Given the description of an element on the screen output the (x, y) to click on. 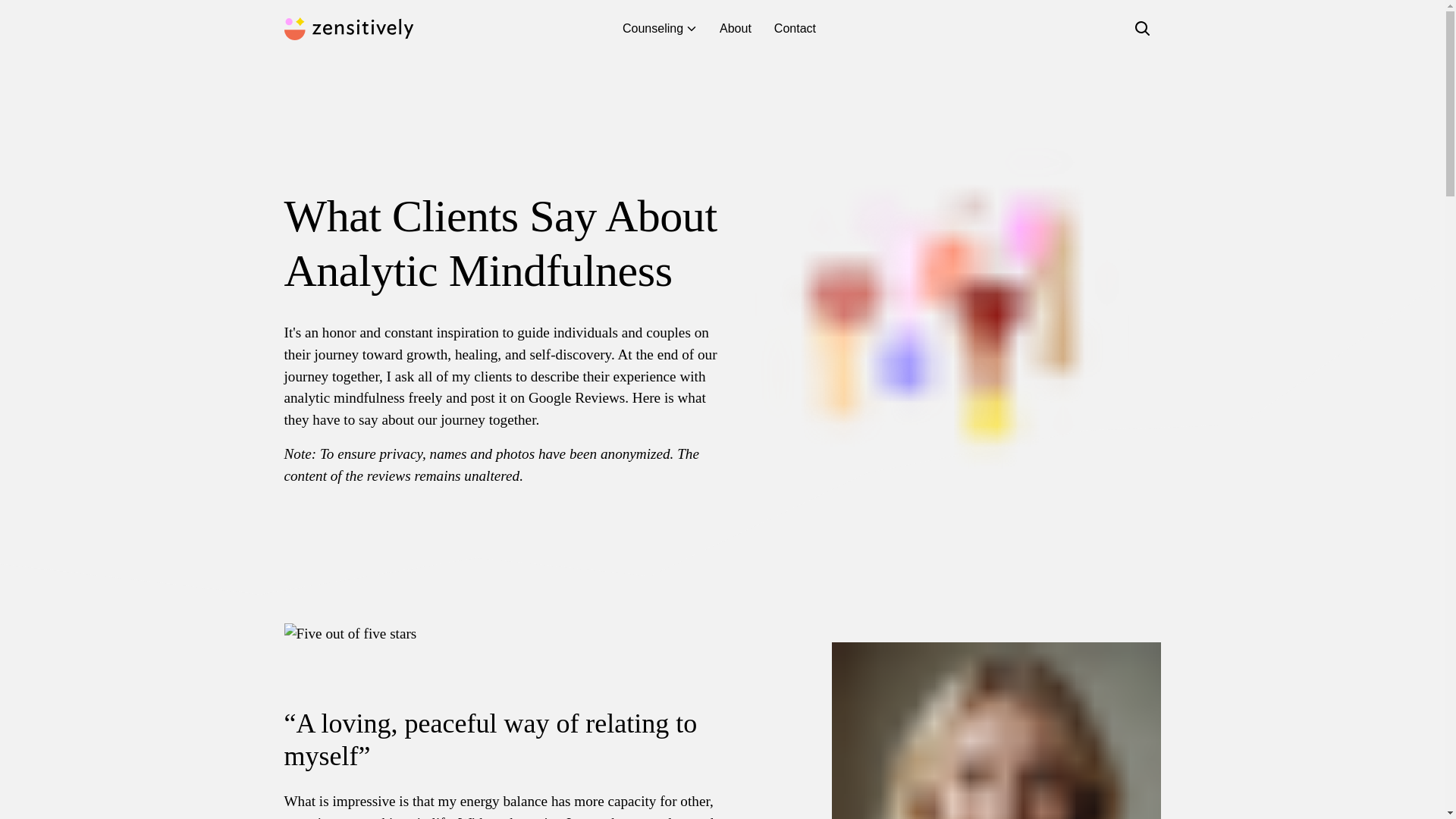
About (735, 28)
Counseling (660, 28)
Contact (795, 28)
